Given the description of an element on the screen output the (x, y) to click on. 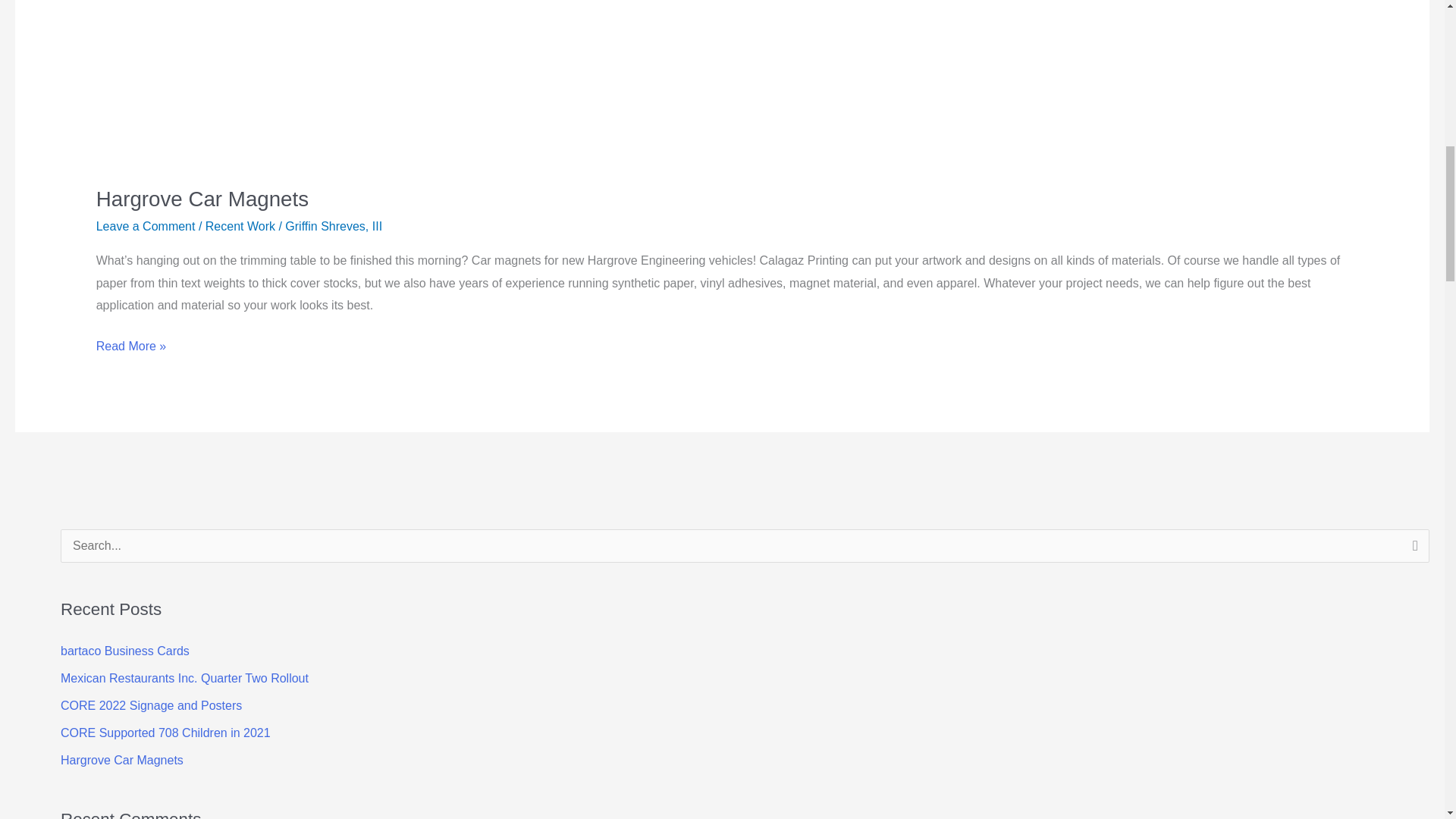
Hargrove Car Magnets (202, 198)
View all posts by Griffin Shreves, III (333, 226)
Griffin Shreves, III (333, 226)
Recent Work (240, 226)
Leave a Comment (145, 226)
